Given the description of an element on the screen output the (x, y) to click on. 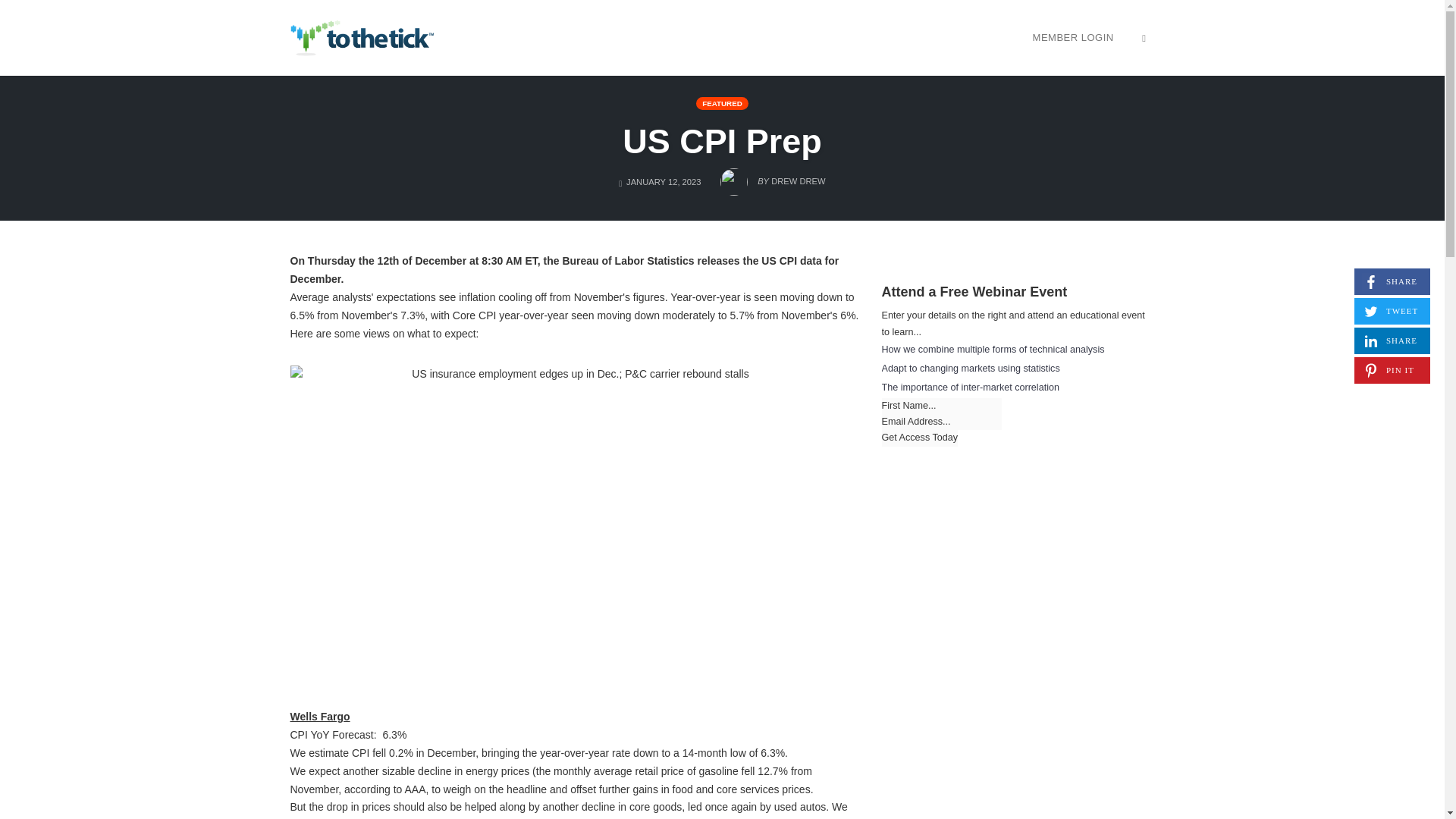
Get Access Today (919, 437)
FEATURED (721, 103)
BY DREW DREW (772, 176)
First Name... (940, 406)
MEMBER LOGIN (1391, 340)
Email Address... (1073, 37)
US CPI Prep (940, 421)
Get Access Today (1391, 281)
OPEN SEARCH FORM (722, 141)
